Given the description of an element on the screen output the (x, y) to click on. 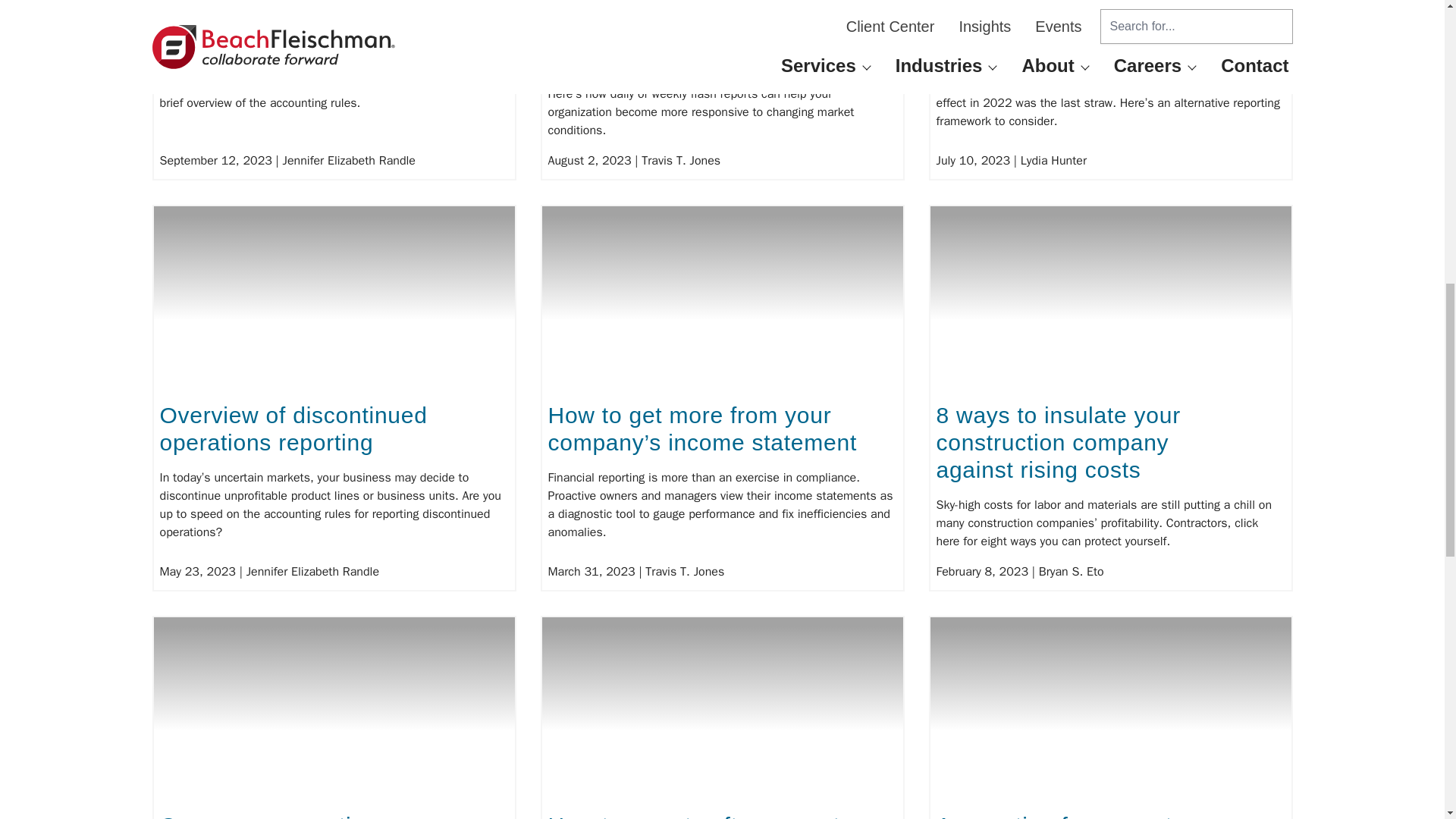
Posts by Jennifer Elizabeth Randle (348, 160)
Posts by Bryan S. Eto (1071, 571)
Posts by Travis T. Jones (681, 160)
Posts by Lydia Hunter (1053, 160)
Posts by Travis T. Jones (684, 571)
Posts by Jennifer Elizabeth Randle (312, 571)
